Given the description of an element on the screen output the (x, y) to click on. 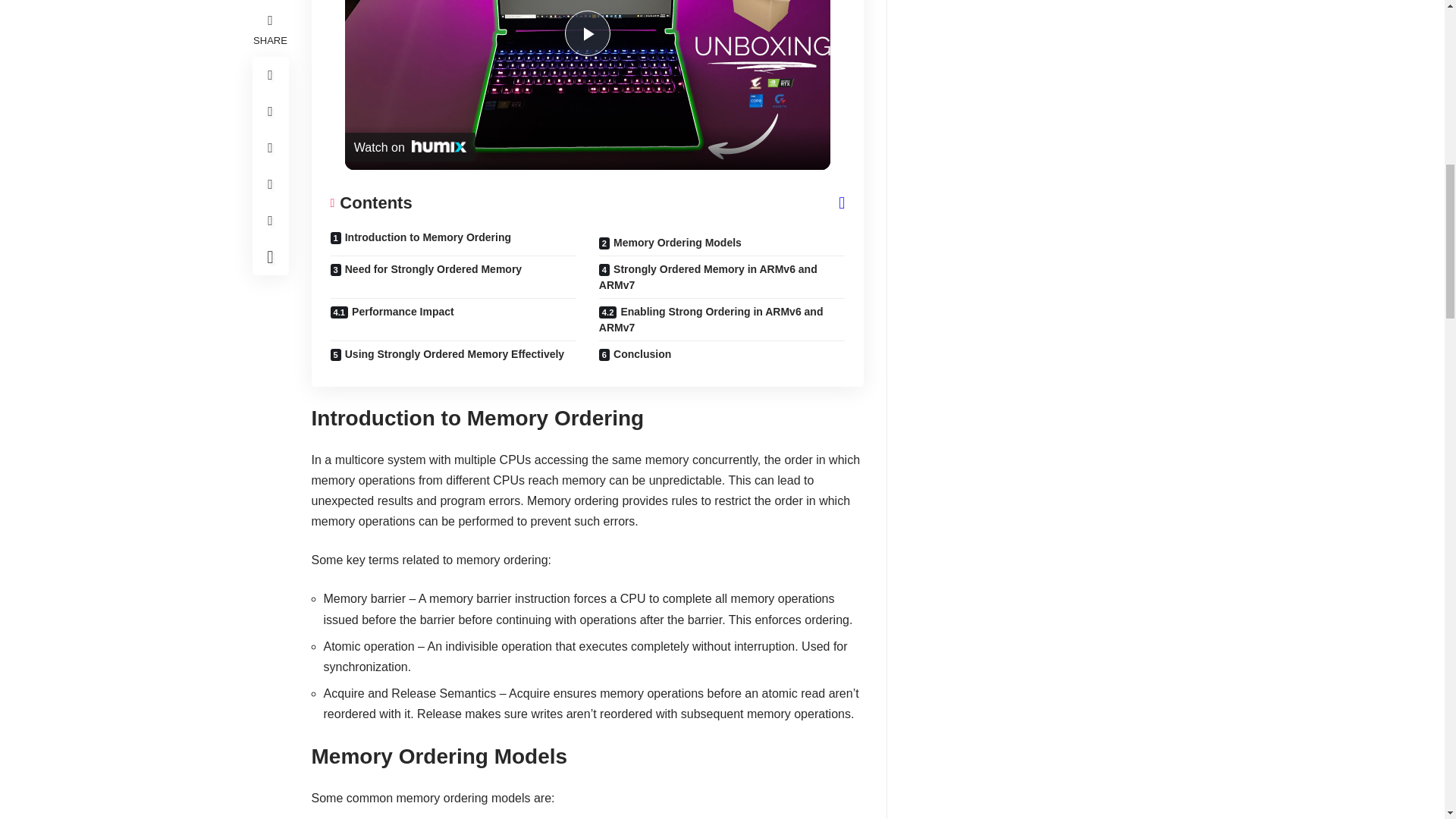
Play Video (587, 33)
